Given the description of an element on the screen output the (x, y) to click on. 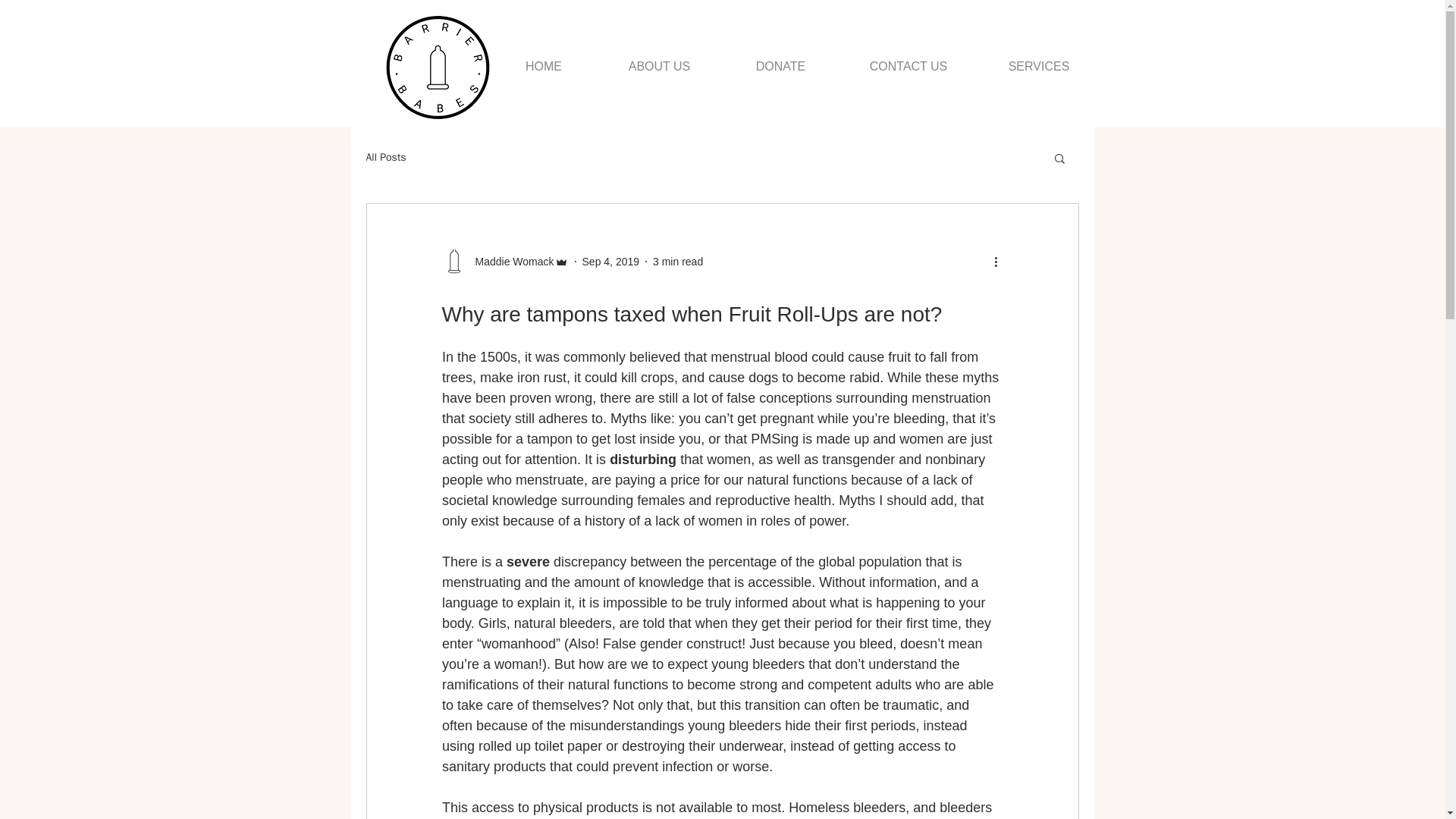
DONATE (780, 59)
All Posts (385, 157)
HOME (543, 59)
ABOUT US (659, 59)
3 min read (677, 260)
Maddie Womack (509, 261)
CONTACT US (908, 59)
Maddie Womack (504, 261)
Sep 4, 2019 (611, 260)
